Given the description of an element on the screen output the (x, y) to click on. 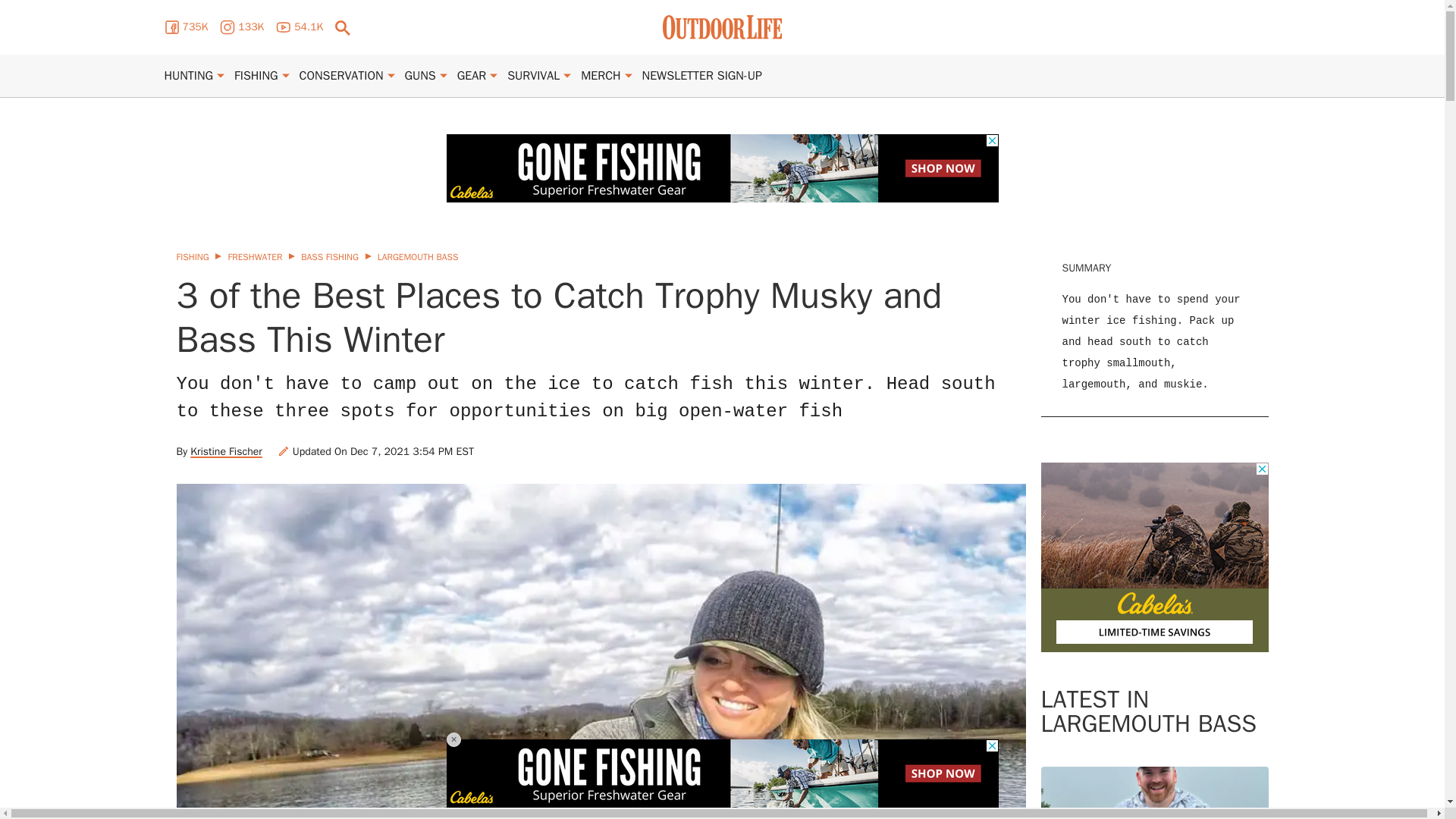
Fishing (256, 75)
Hunting (187, 75)
3rd party ad content (1154, 556)
Guns (419, 75)
3rd party ad content (721, 168)
Merch (600, 75)
Survival (532, 75)
Conservation (341, 75)
Gear (471, 75)
Newsletter Sign-up (701, 75)
